Given the description of an element on the screen output the (x, y) to click on. 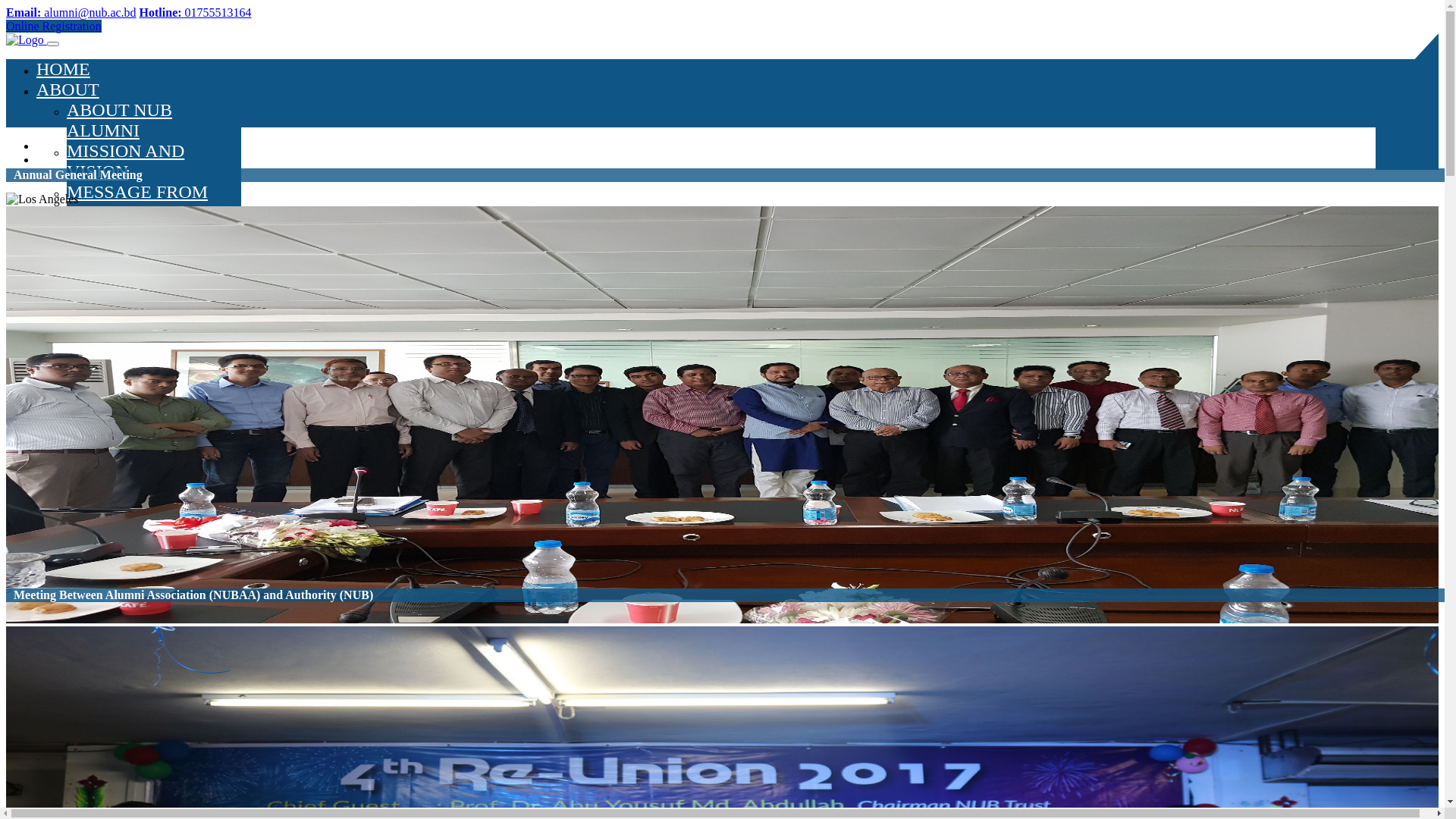
MESSAGE FROM SECRETARY Element type: text (136, 283)
MESSAGE FROM PRESIDENT Element type: text (136, 242)
MEMBER Element type: text (136, 416)
MESSAGE FROM CHIEF PATRON Element type: text (136, 202)
PAST LEADERS Element type: text (130, 314)
ABOUT Element type: text (67, 89)
OFFICE BEARERS Element type: text (171, 396)
ABOUT NUB ALUMNI Element type: text (119, 120)
Email: alumni@nub.ac.bd Element type: text (71, 12)
COMMITTEE Element type: text (90, 335)
Online Registration Element type: text (53, 26)
MEMBER Element type: text (75, 437)
EVENT Element type: text (66, 498)
CONTACT Element type: text (78, 519)
GENERAL MEMBER Element type: text (150, 478)
LIFE MEMBER Element type: text (127, 457)
MISSION AND VISION Element type: text (125, 161)
Hotline: 01755513164 Element type: text (195, 12)
EXECUTIVE COMMITTEE Element type: text (173, 375)
HOME Element type: text (63, 68)
ADVISORY COMMITTEE Element type: text (168, 355)
